Given the description of an element on the screen output the (x, y) to click on. 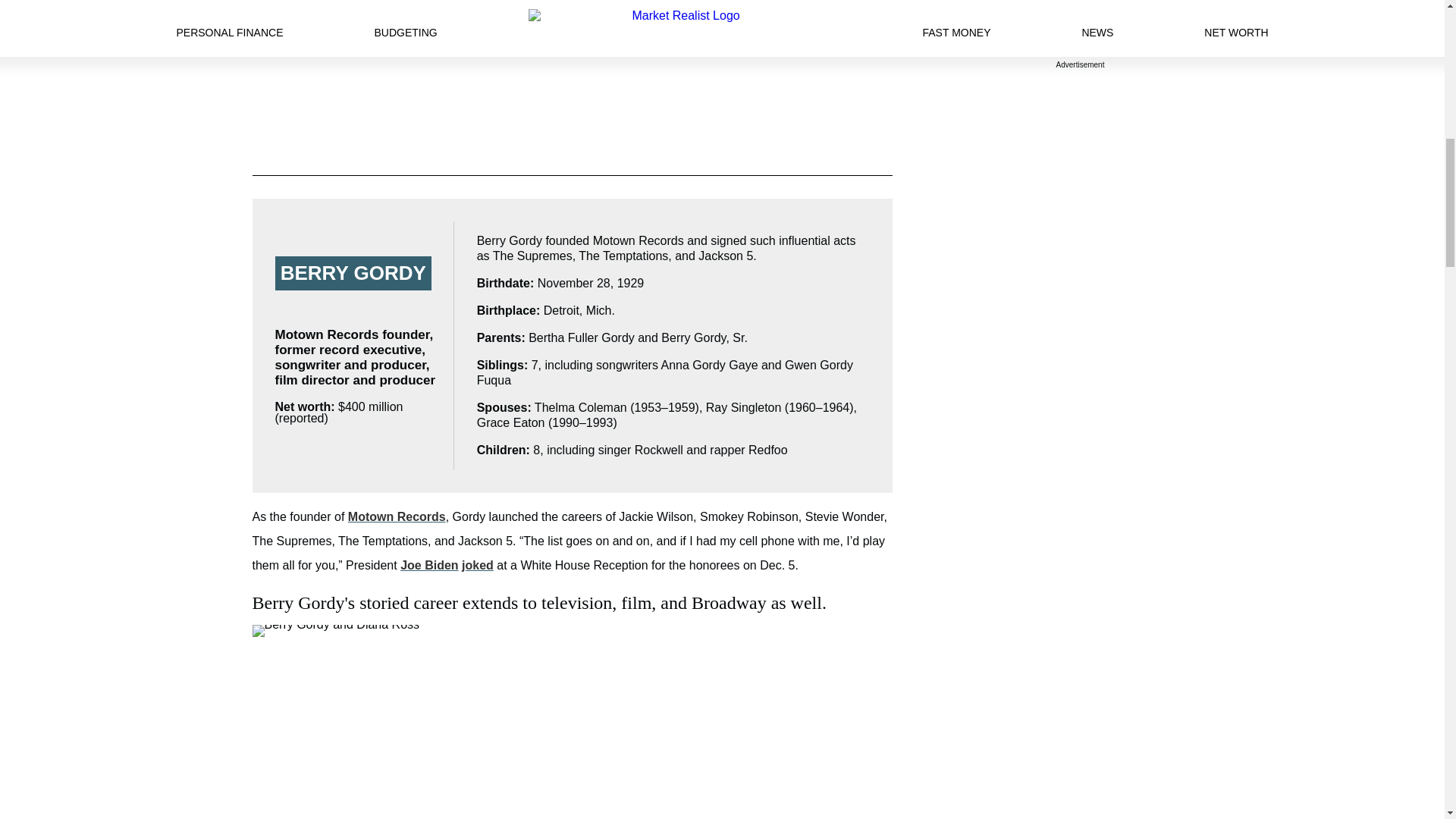
Joe Biden (429, 564)
joked (477, 564)
Motown Records (396, 516)
